Given the description of an element on the screen output the (x, y) to click on. 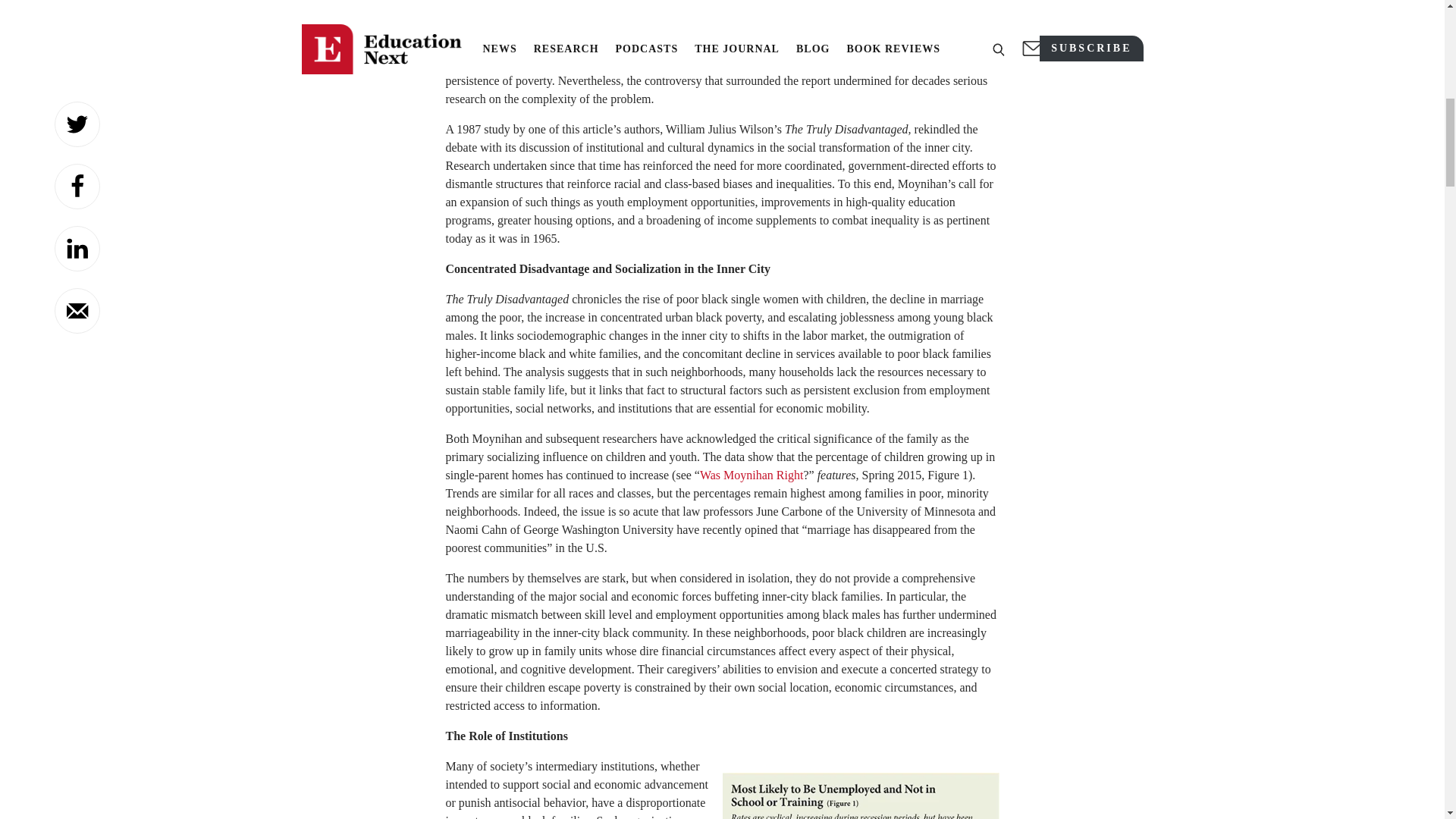
Was Moynihan Right (751, 474)
